Given the description of an element on the screen output the (x, y) to click on. 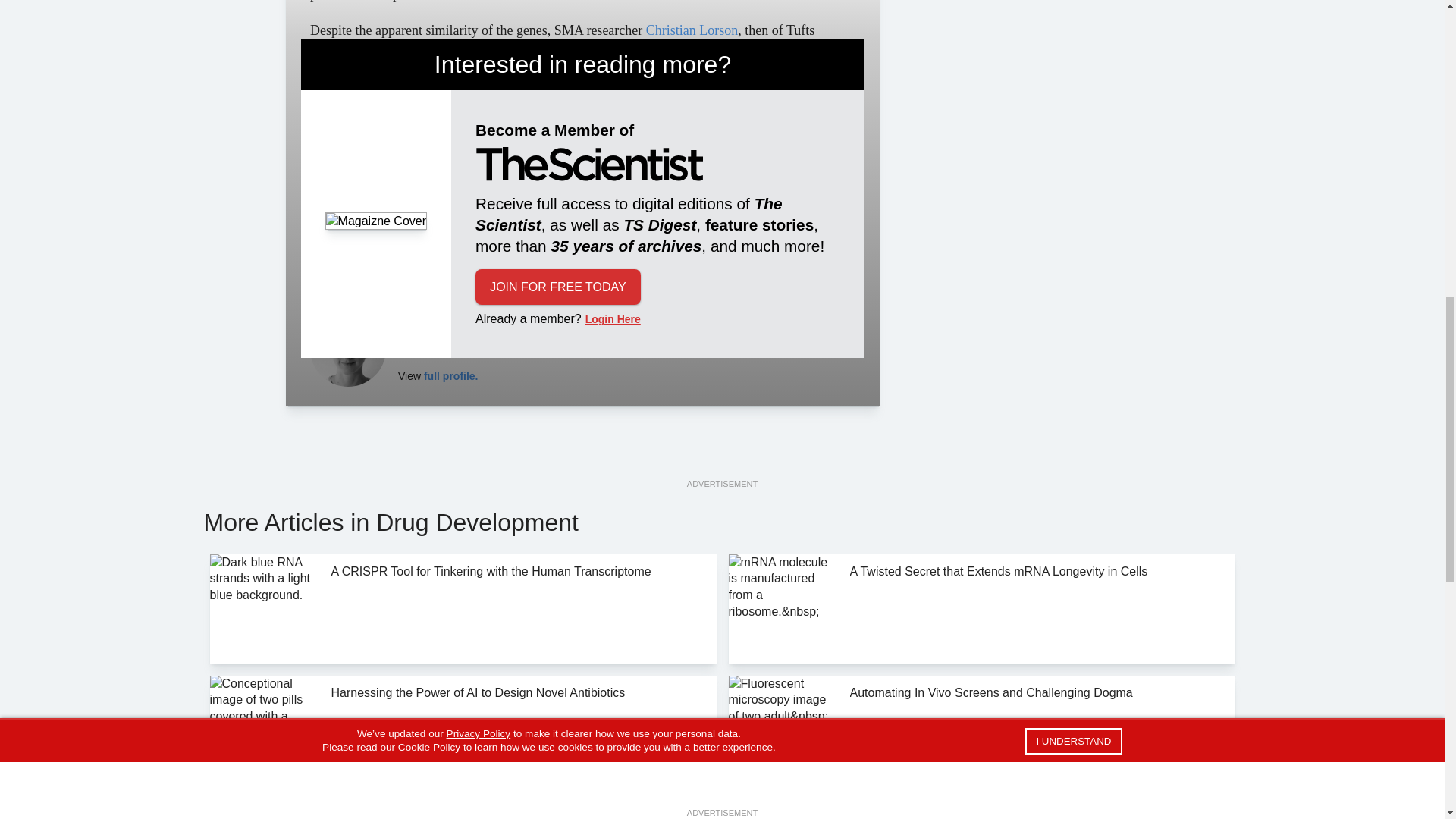
Catherine Offord (347, 348)
Magaizne Cover (376, 221)
